Given the description of an element on the screen output the (x, y) to click on. 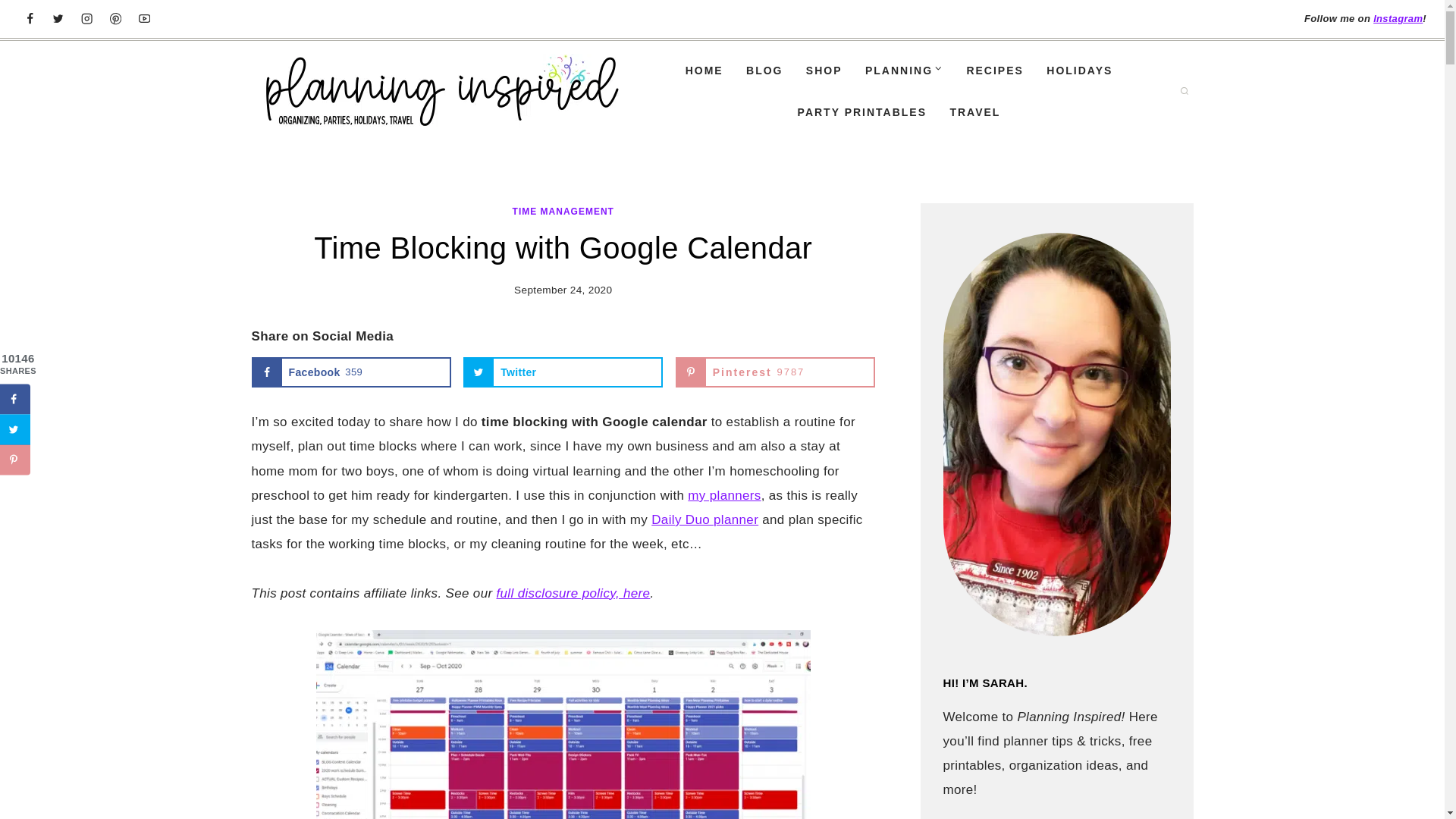
Save to Pinterest (15, 459)
BLOG (764, 70)
Share on Facebook (15, 399)
TIME MANAGEMENT (563, 211)
PARTY PRINTABLES (861, 112)
Daily Duo planner (704, 519)
full disclosure policy, here (573, 593)
my planners (723, 495)
SHOP (823, 70)
TRAVEL (974, 112)
HOME (702, 70)
Twitter (562, 372)
Instagram (775, 372)
HOLIDAYS (1397, 18)
